Given the description of an element on the screen output the (x, y) to click on. 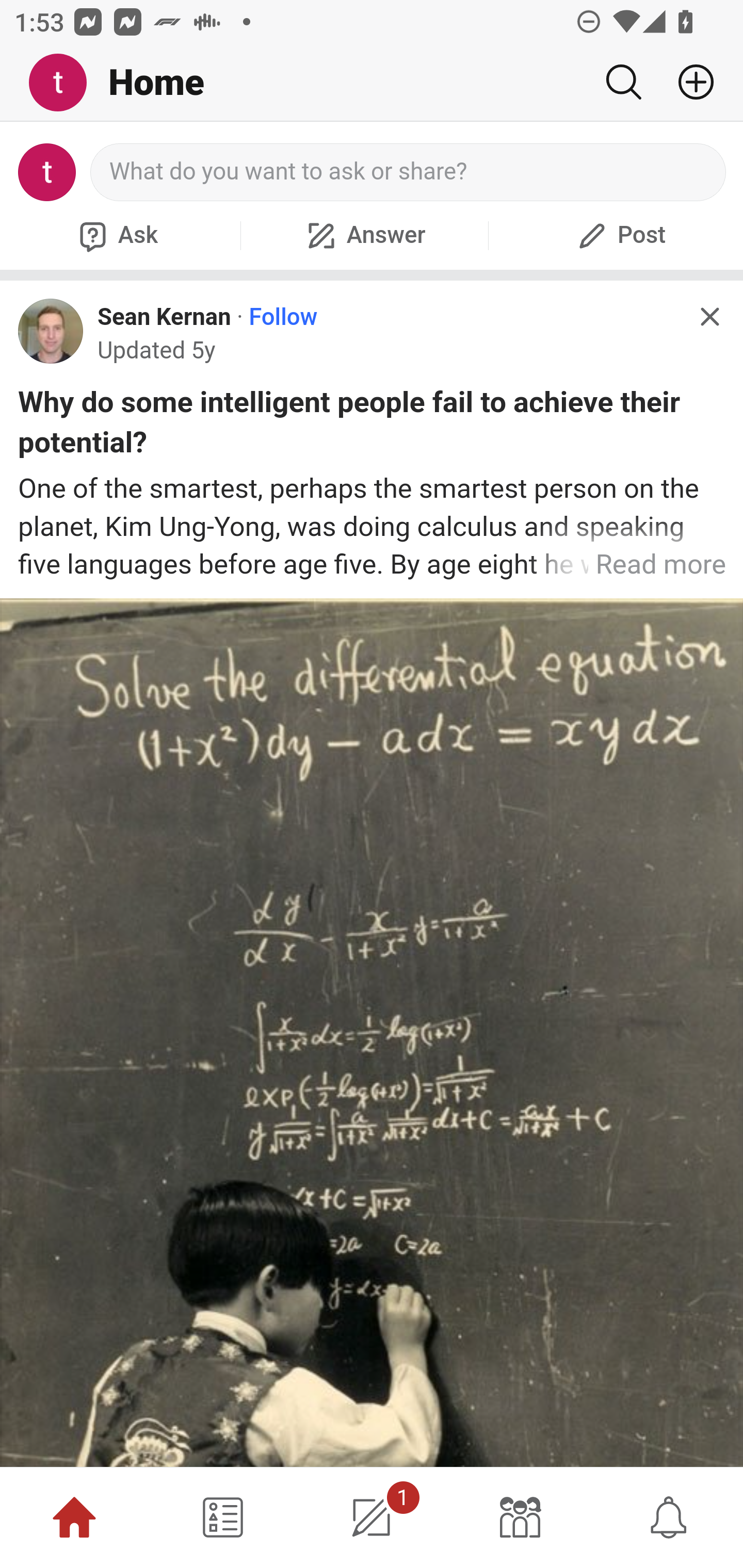
Me (64, 83)
Search (623, 82)
Add (688, 82)
What do you want to ask or share? (408, 172)
Ask (116, 234)
Answer (364, 234)
Post (618, 234)
Hide (709, 316)
Profile photo for Sean Kernan (50, 330)
Sean Kernan (164, 316)
Follow (283, 316)
1 (371, 1517)
